Given the description of an element on the screen output the (x, y) to click on. 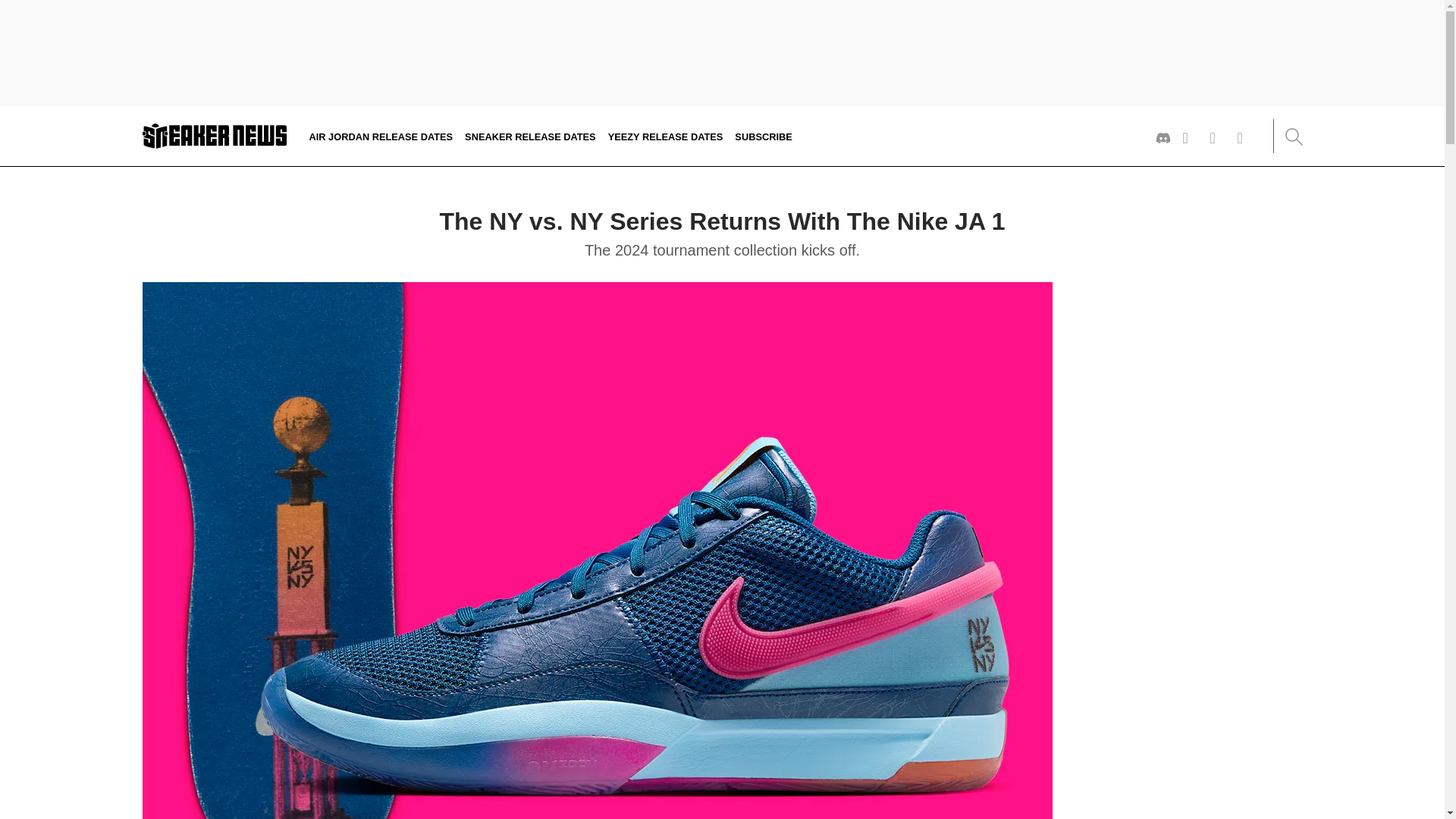
SNEAKER RELEASE DATES (529, 135)
Discord (1163, 137)
AIR JORDAN RELEASE DATES (380, 135)
Search (1292, 136)
YEEZY RELEASE DATES (665, 135)
3rd party ad content (1189, 376)
SUBSCRIBE (763, 135)
3rd party ad content (721, 54)
Facebook (1244, 137)
Skip to main content (4, 121)
Twitter (1190, 137)
Instagram (1217, 137)
